Given the description of an element on the screen output the (x, y) to click on. 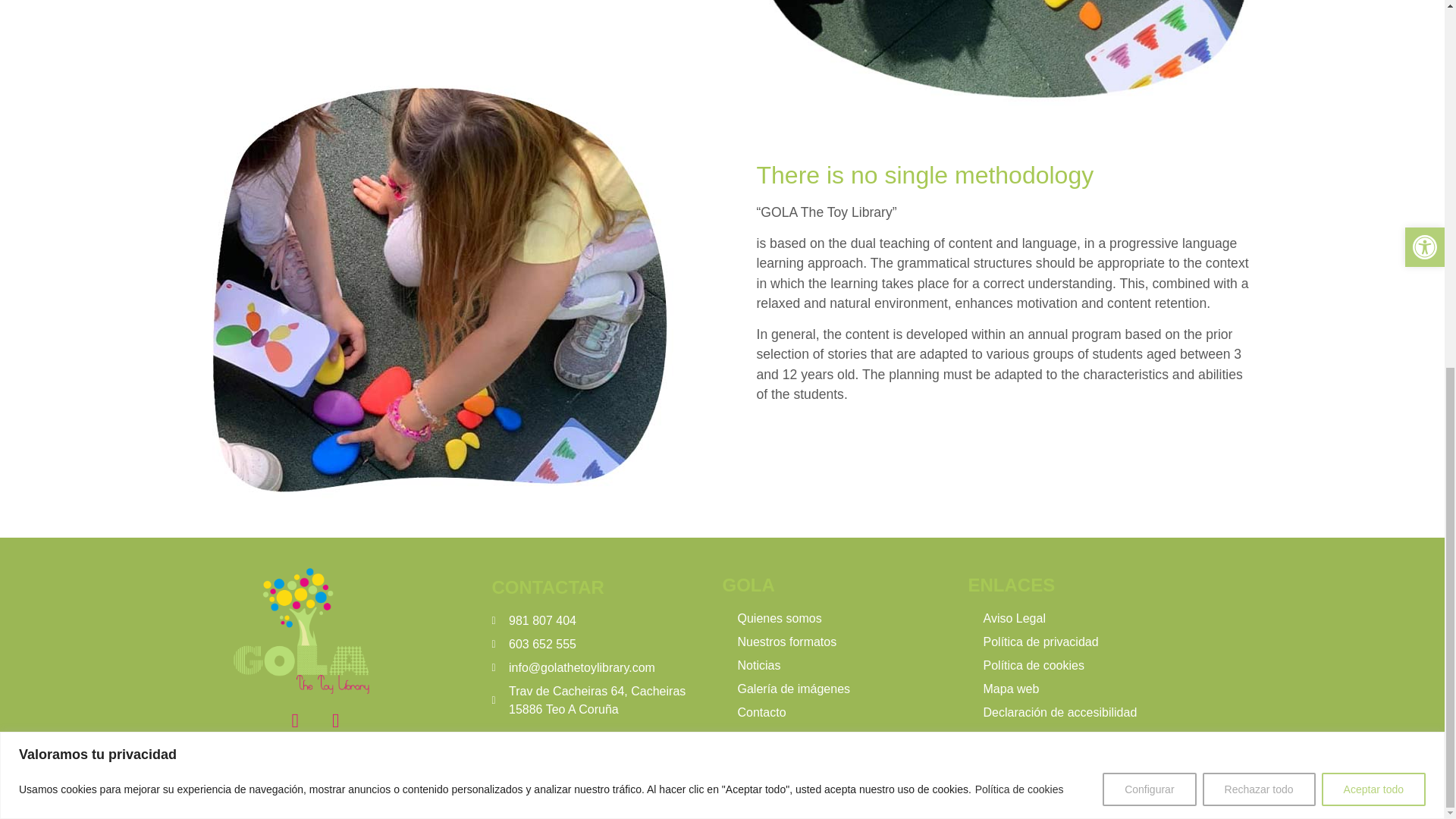
Rechazar todo (1259, 123)
Configurar (1148, 123)
Aceptar todo (1373, 123)
